Given the description of an element on the screen output the (x, y) to click on. 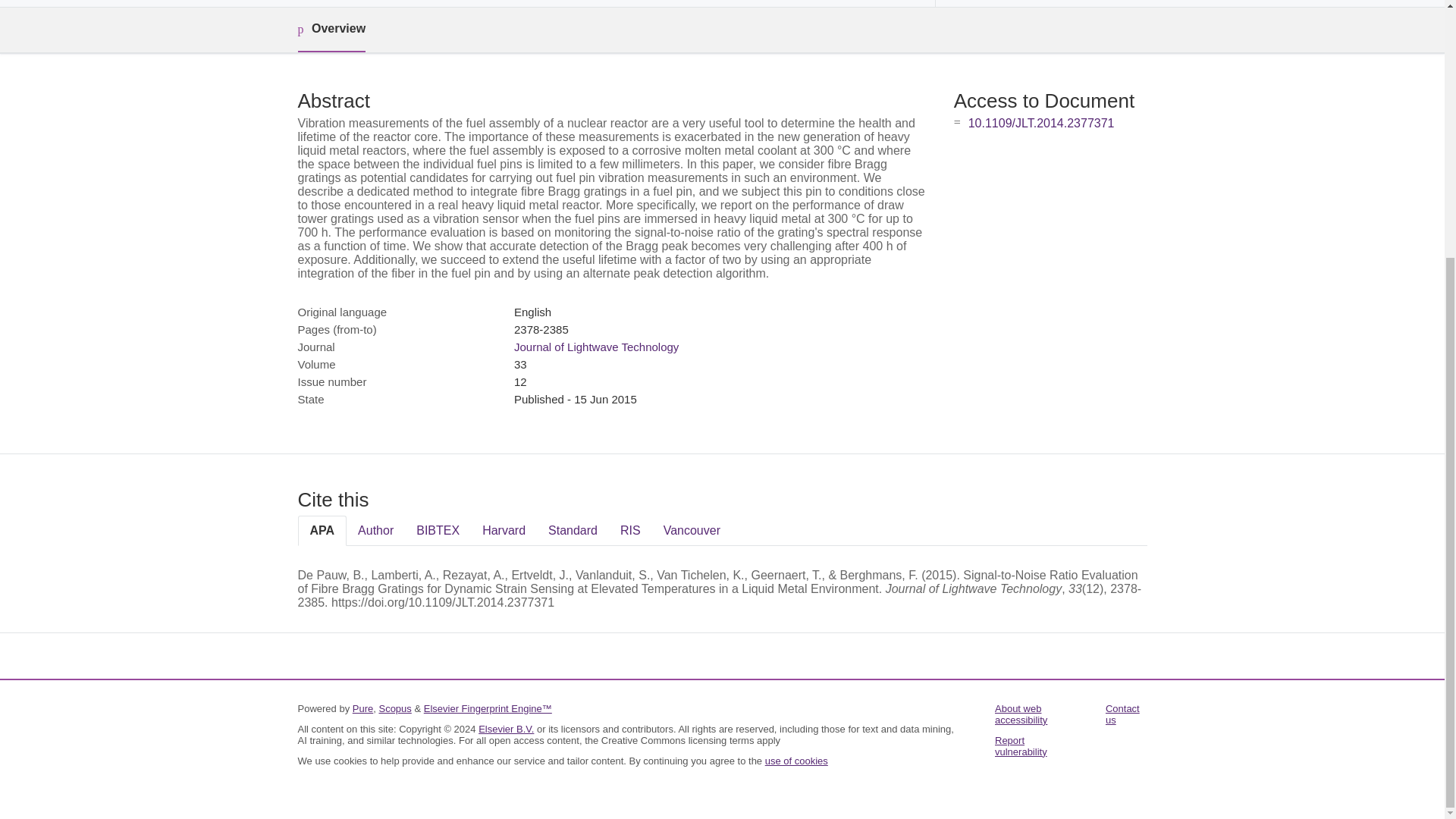
Scopus (394, 708)
Report vulnerability (1020, 745)
Contact us (1122, 713)
Pure (362, 708)
Elsevier B.V. (506, 728)
use of cookies (796, 760)
About web accessibility (1020, 713)
Overview (331, 29)
Journal of Lightwave Technology (595, 346)
